Given the description of an element on the screen output the (x, y) to click on. 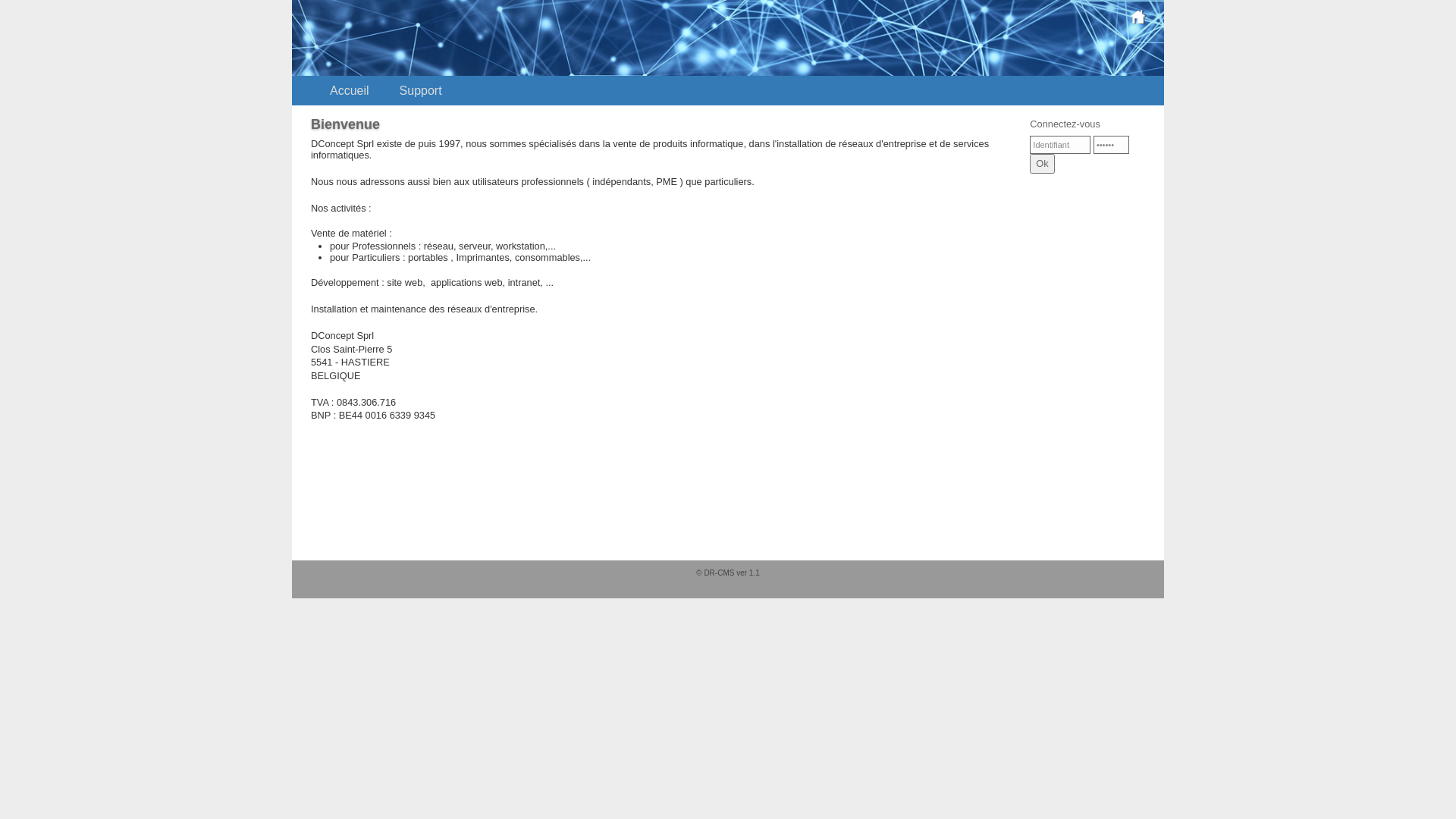
Support Element type: text (420, 90)
Accueil Element type: text (349, 90)
Ok Element type: text (1041, 163)
Identifiant Element type: text (1059, 144)
123456 Element type: text (1111, 144)
